Given the description of an element on the screen output the (x, y) to click on. 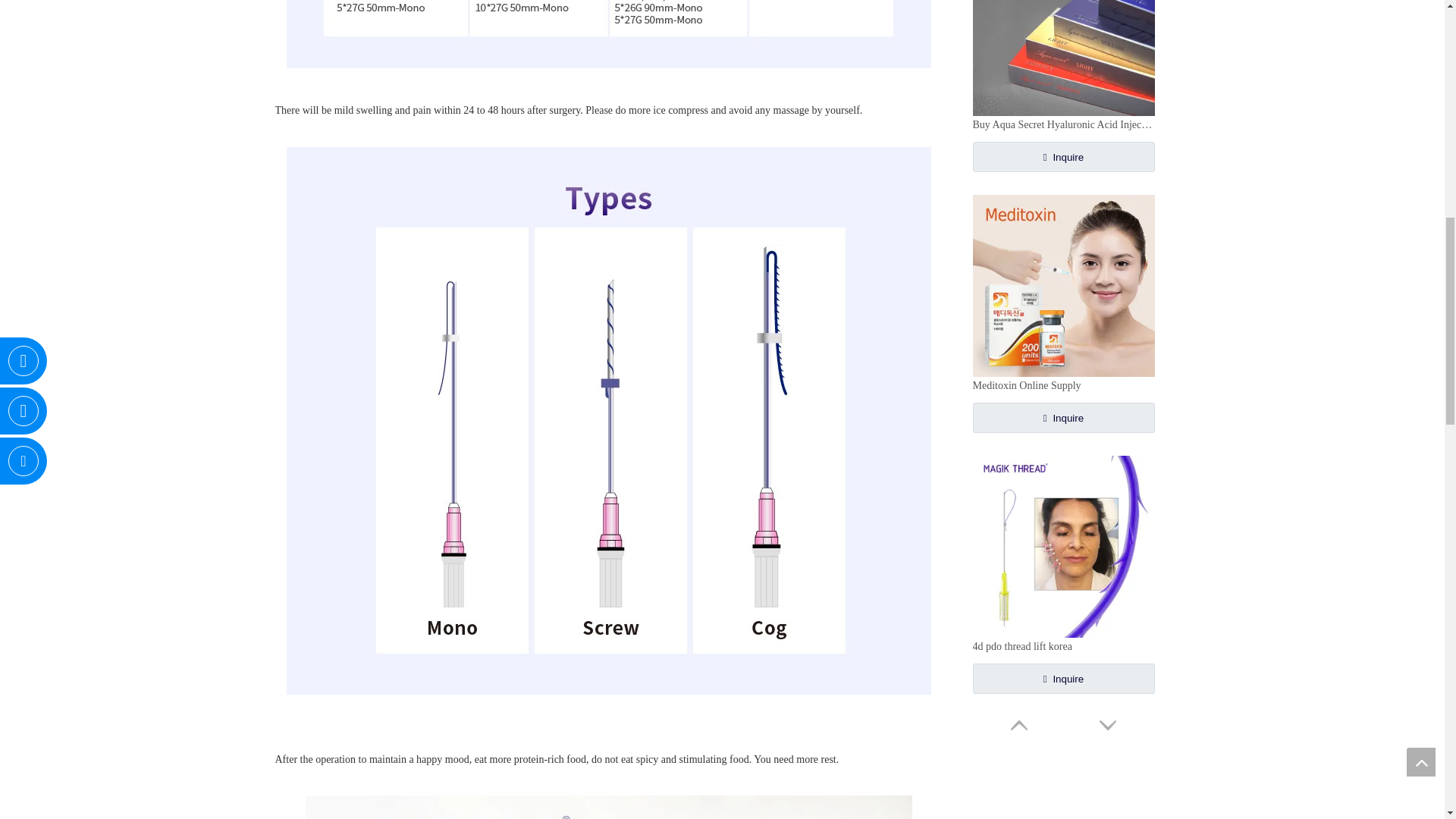
Meditoxin Online Supply (1063, 385)
Here are some dos and dont s for PDO Thread (608, 33)
Buy Aqua Secret Hyaluronic Acid Injections Online (1063, 125)
4d pdo thread lift korea (1063, 647)
